Given the description of an element on the screen output the (x, y) to click on. 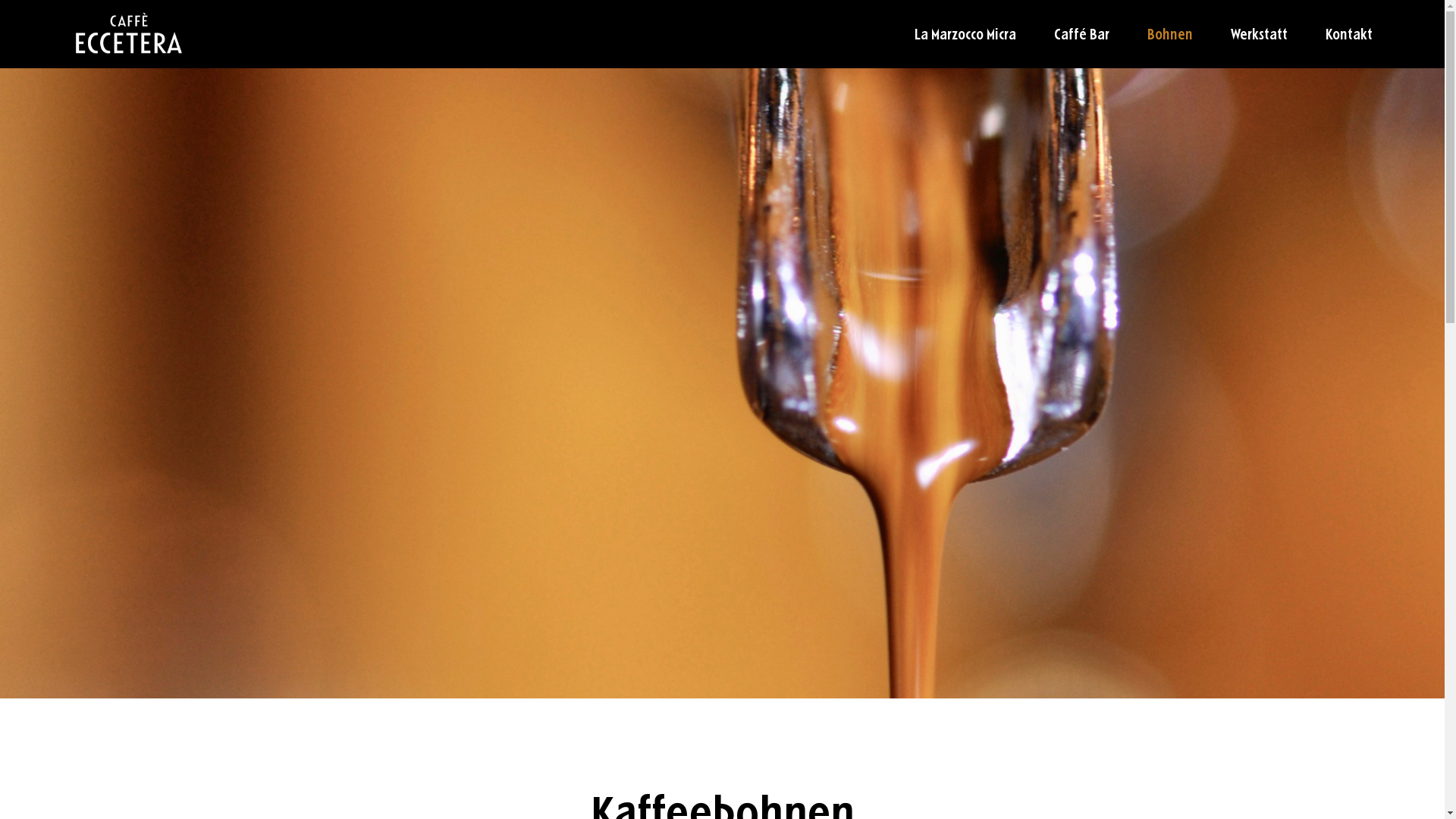
Bohnen Element type: text (1169, 34)
Werkstatt Element type: text (1258, 34)
La Marzocco Micra Element type: text (965, 34)
Kontakt Element type: text (1348, 34)
